Given the description of an element on the screen output the (x, y) to click on. 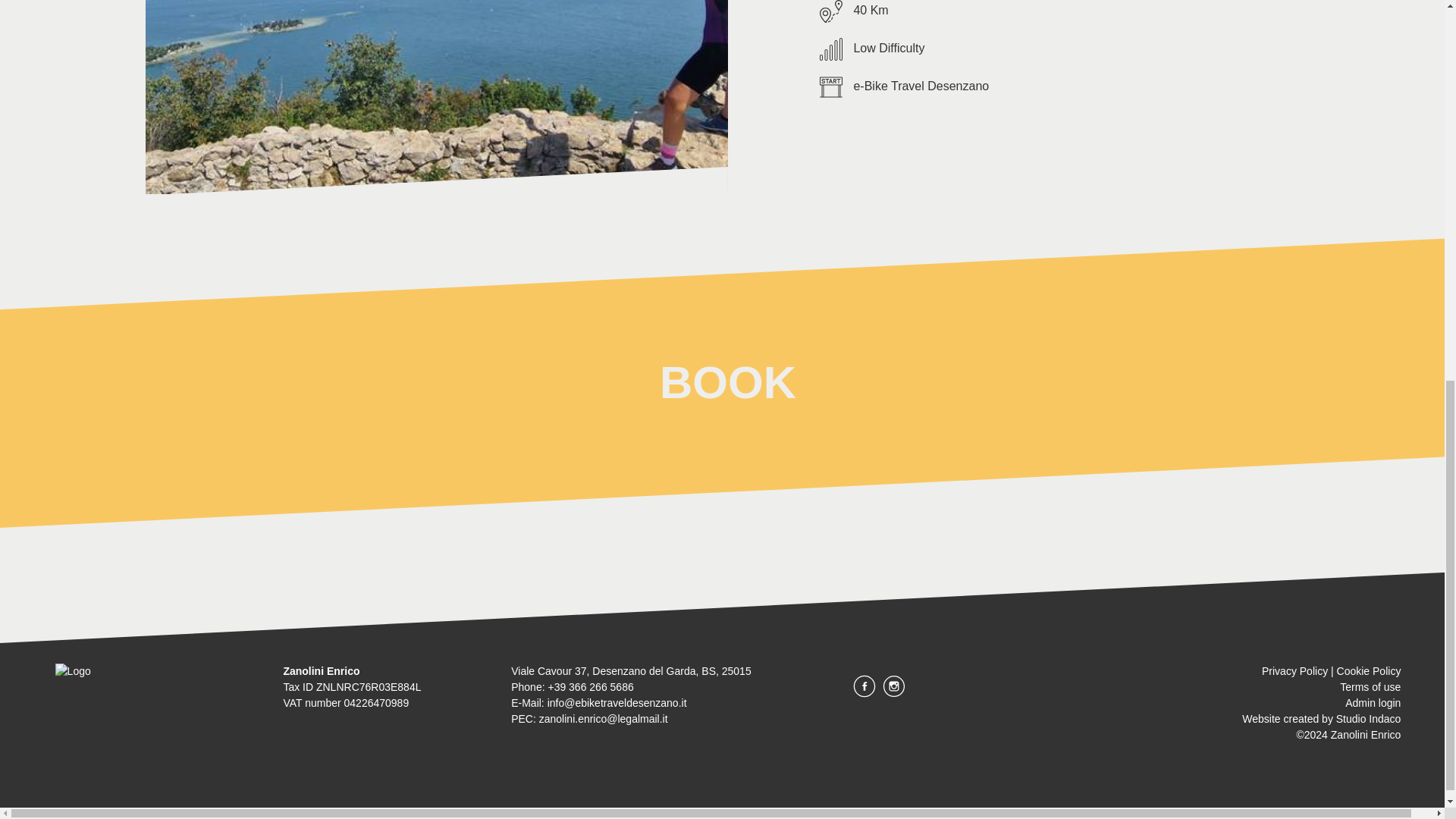
Terms of use (1369, 686)
Cookie Policy (1368, 671)
Website created by Studio Indaco (1320, 718)
Privacy Policy (1294, 671)
Admin login (1372, 702)
